Given the description of an element on the screen output the (x, y) to click on. 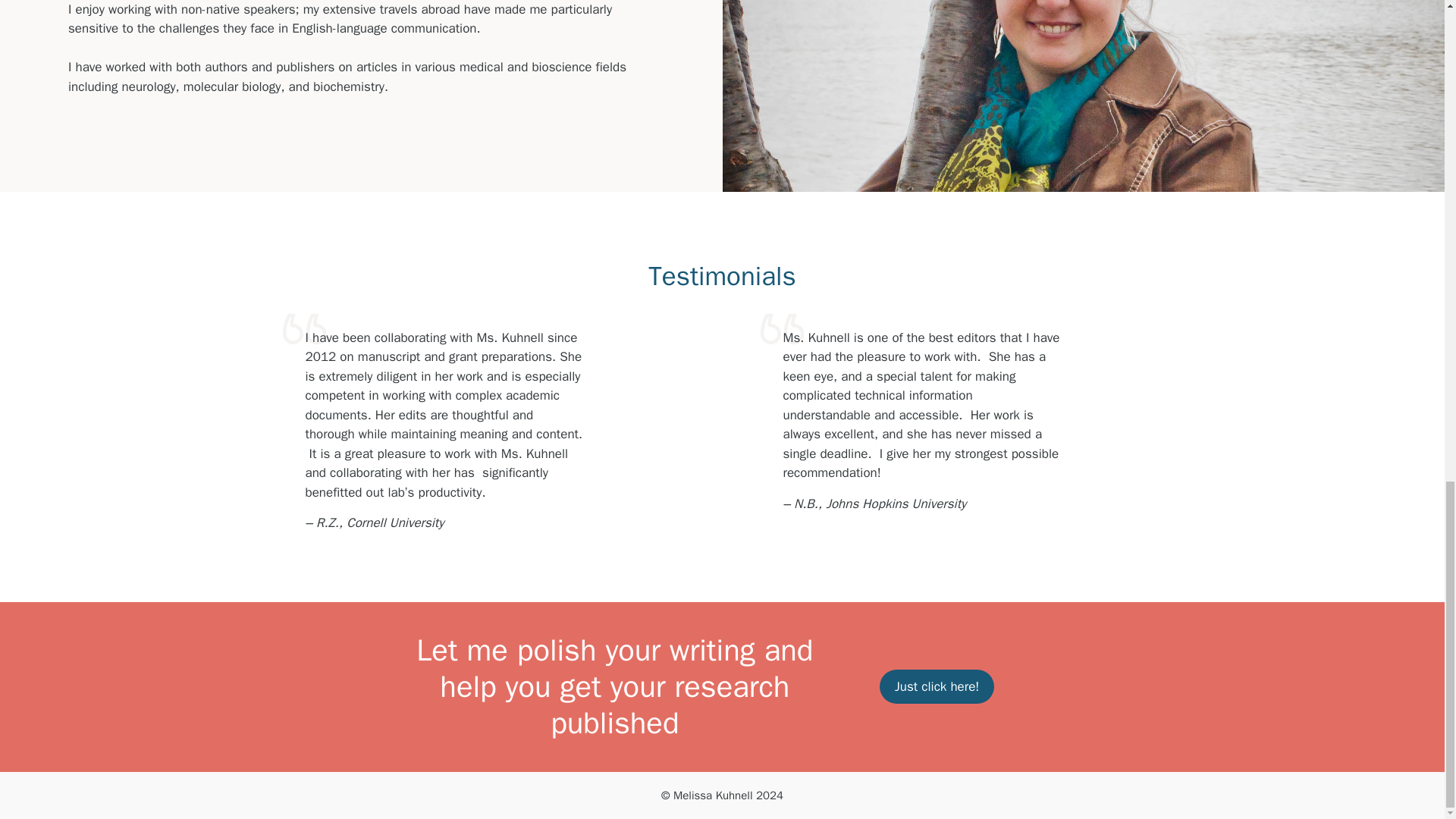
Scroll back to top (1406, 357)
Just click here! (936, 686)
